Given the description of an element on the screen output the (x, y) to click on. 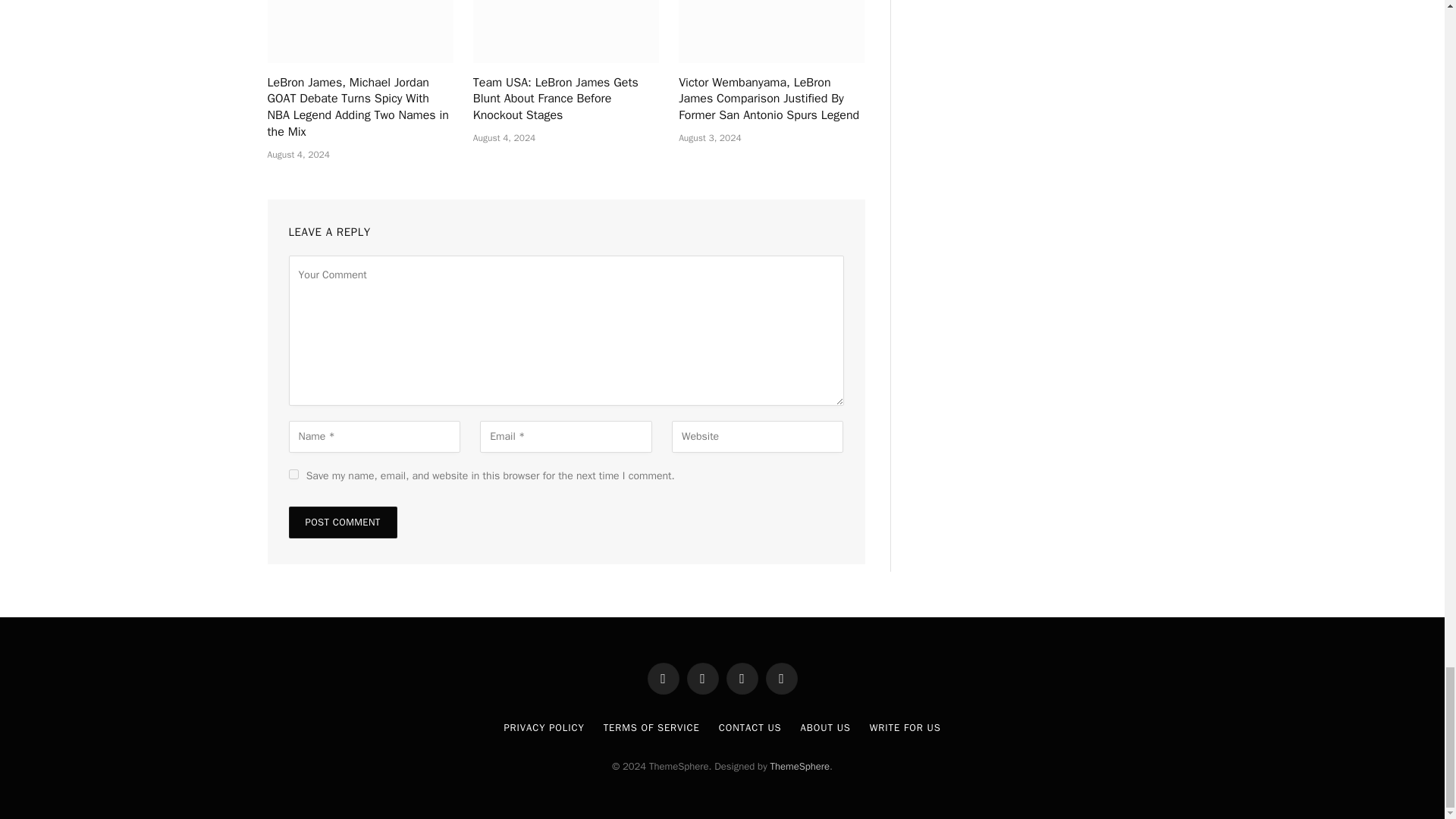
yes (293, 474)
Post Comment (342, 522)
